Given the description of an element on the screen output the (x, y) to click on. 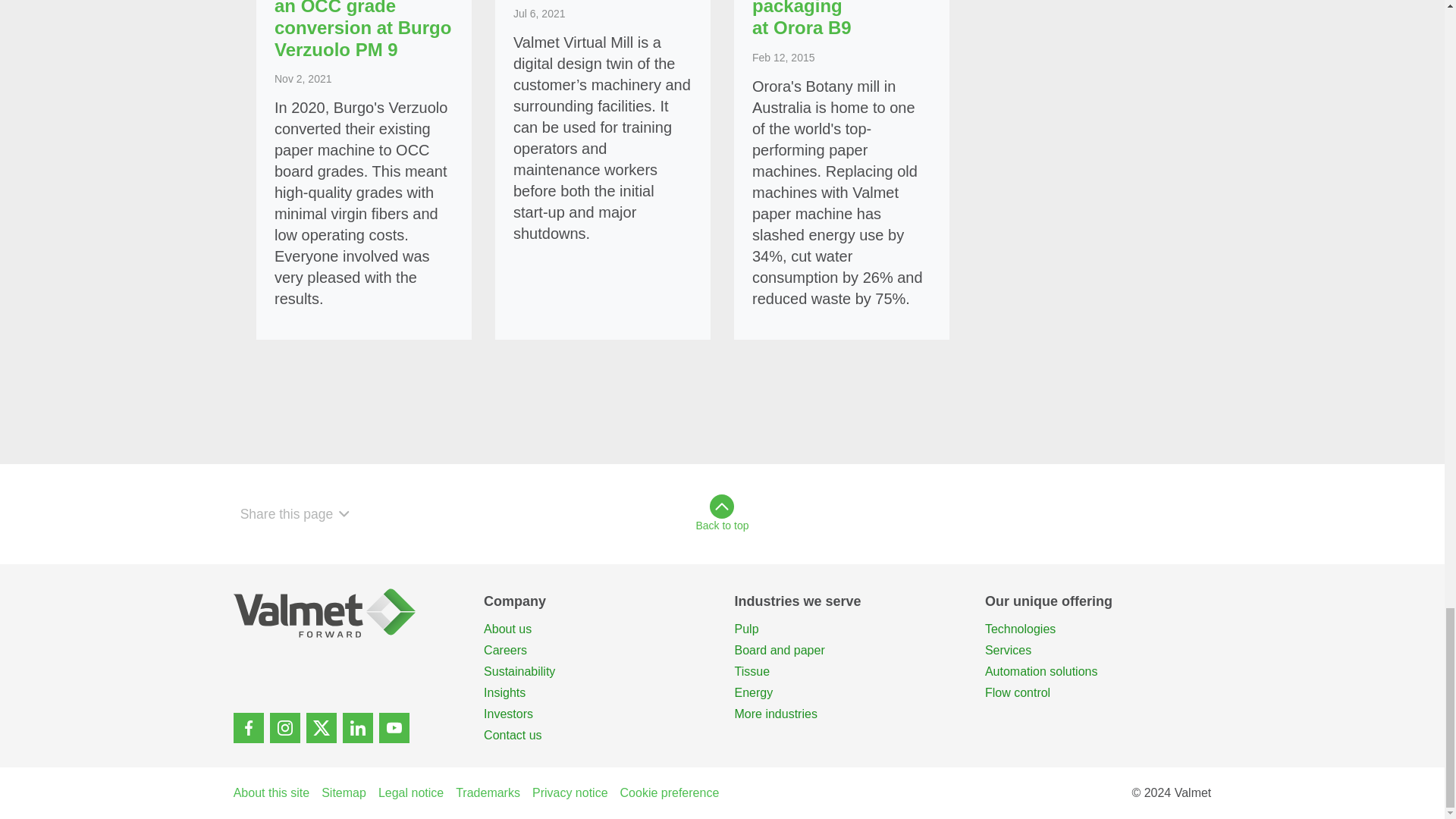
LinkedIn (357, 727)
Facebook (247, 727)
Instagram (284, 727)
Valmet - Forward (346, 613)
YouTube (393, 727)
